Given the description of an element on the screen output the (x, y) to click on. 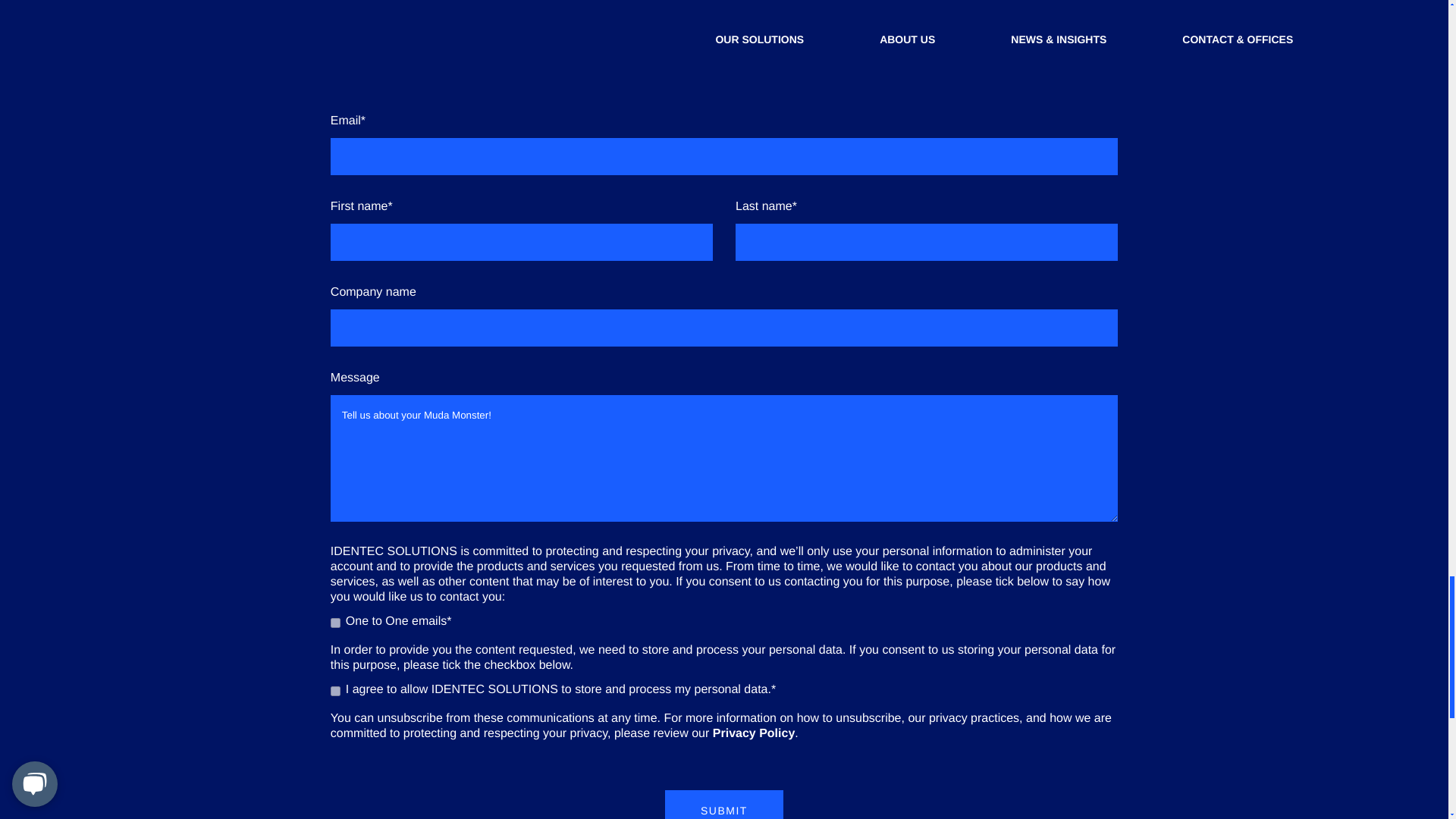
true (335, 623)
true (335, 691)
Submit (724, 804)
